Given the description of an element on the screen output the (x, y) to click on. 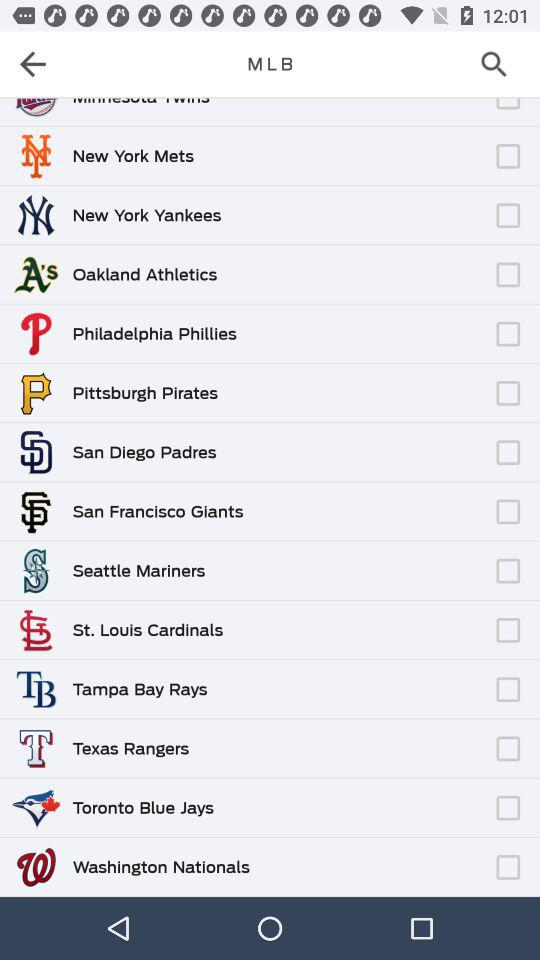
open the seattle mariners item (138, 570)
